Given the description of an element on the screen output the (x, y) to click on. 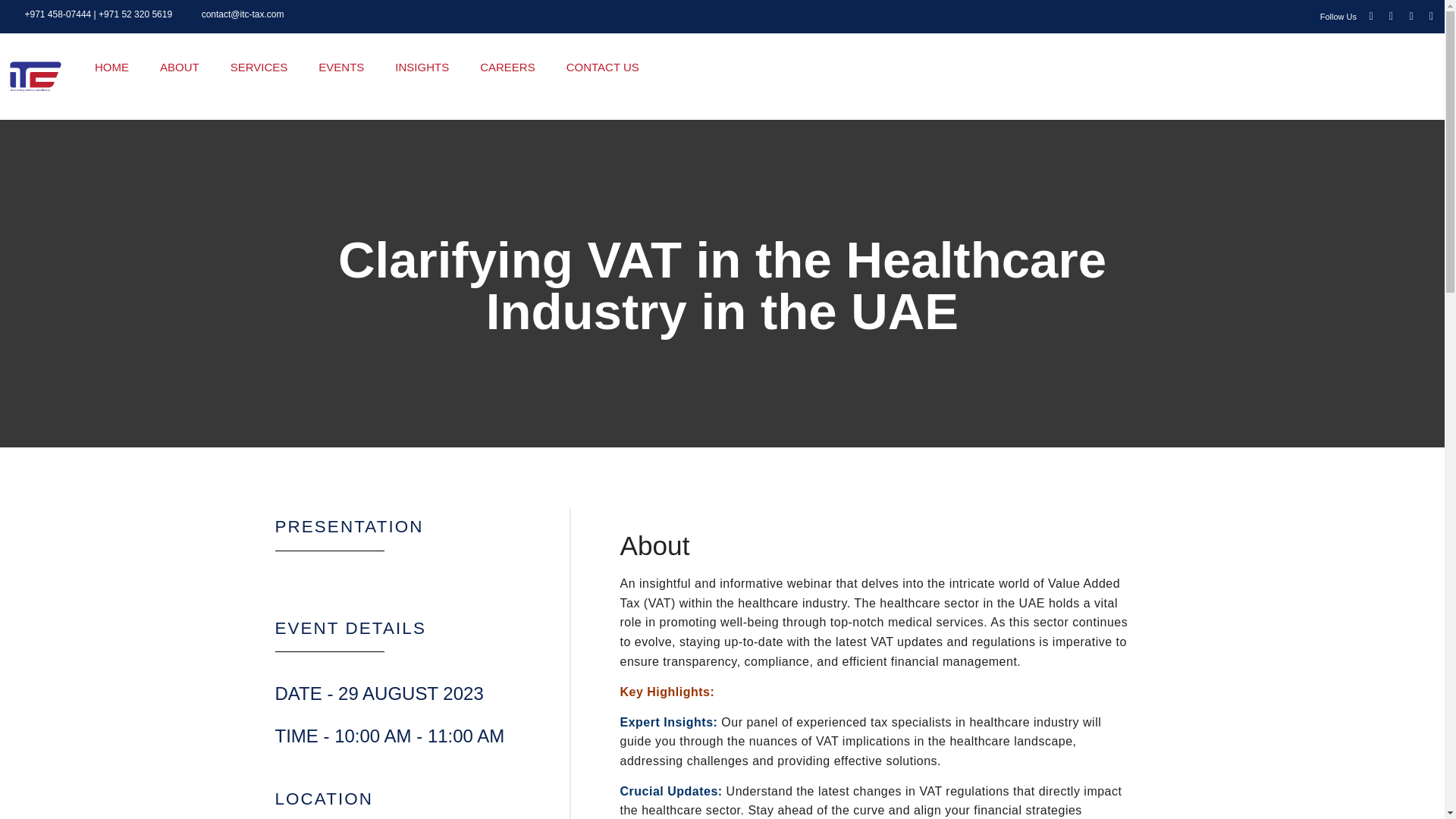
HOME (111, 67)
CONTACT US (603, 67)
ABOUT (179, 67)
INSIGHTS (422, 67)
CAREERS (507, 67)
SERVICES (259, 67)
EVENTS (341, 67)
